Given the description of an element on the screen output the (x, y) to click on. 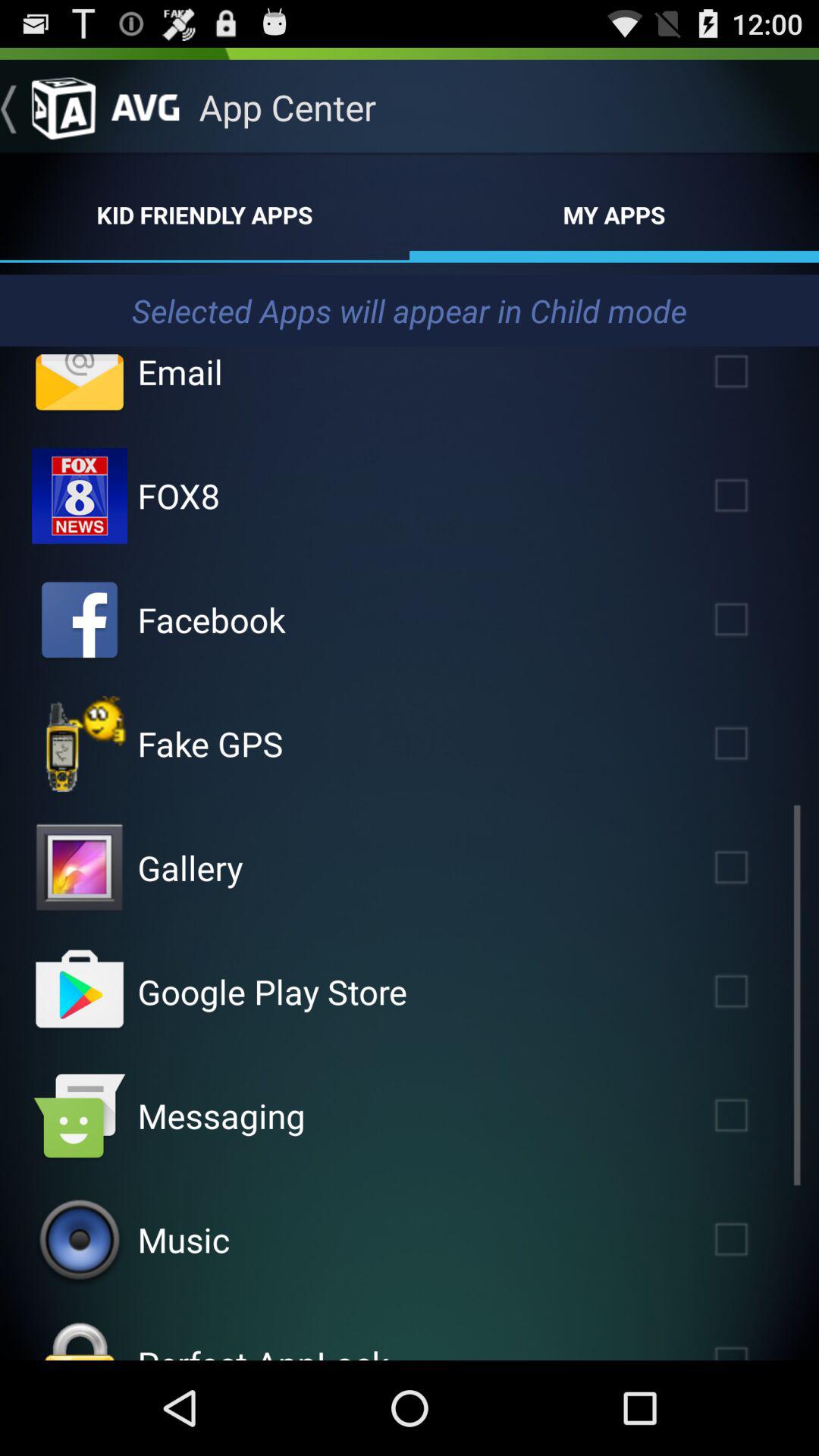
selection (753, 619)
